Given the description of an element on the screen output the (x, y) to click on. 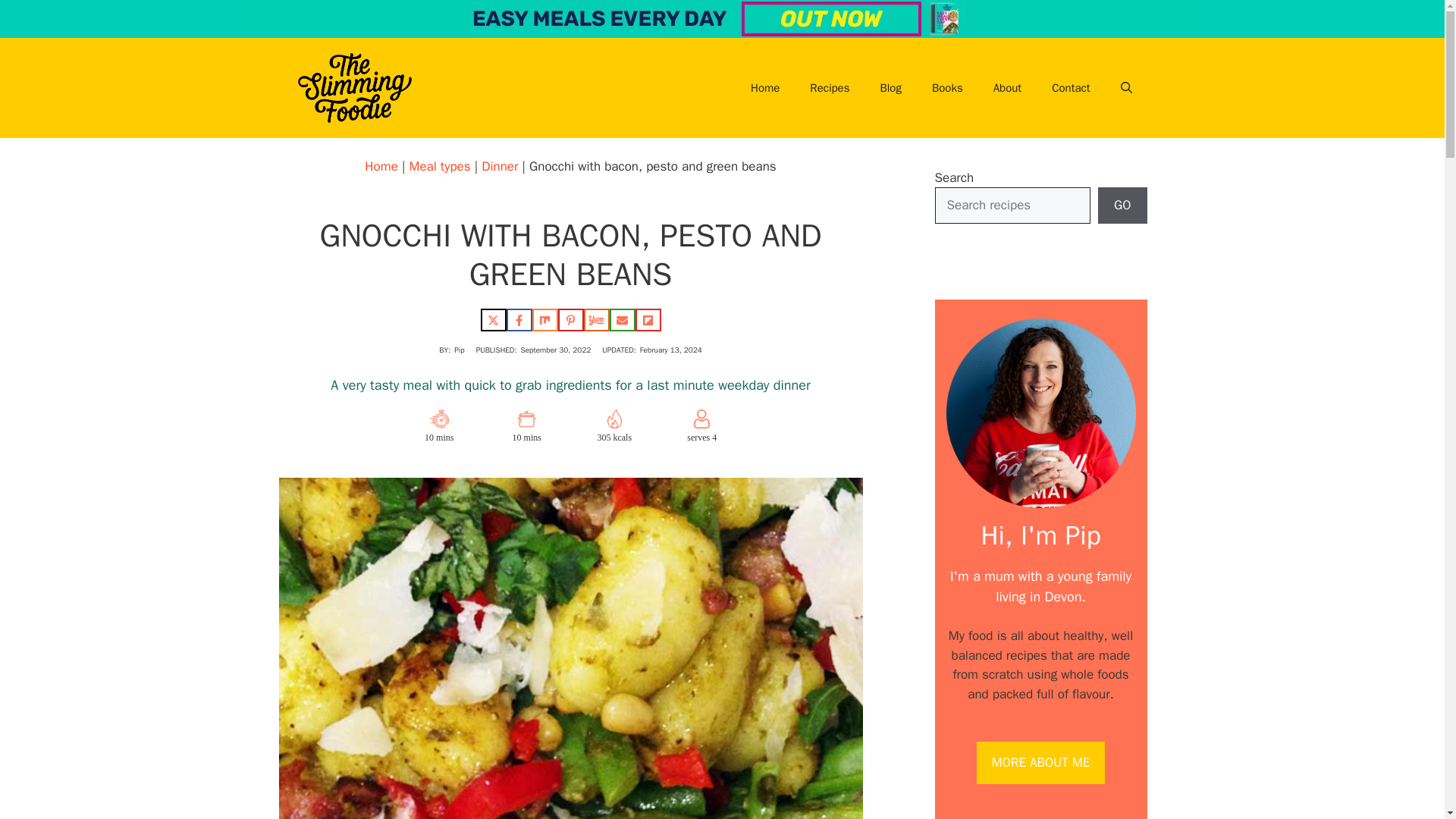
Recipes (829, 87)
Books (947, 87)
Dinner (499, 166)
Home (381, 166)
About (1007, 87)
Home (764, 87)
Blog (889, 87)
Meal types (439, 166)
Contact (1070, 87)
Meal types (439, 166)
Dinner (499, 166)
Home (381, 166)
